Given the description of an element on the screen output the (x, y) to click on. 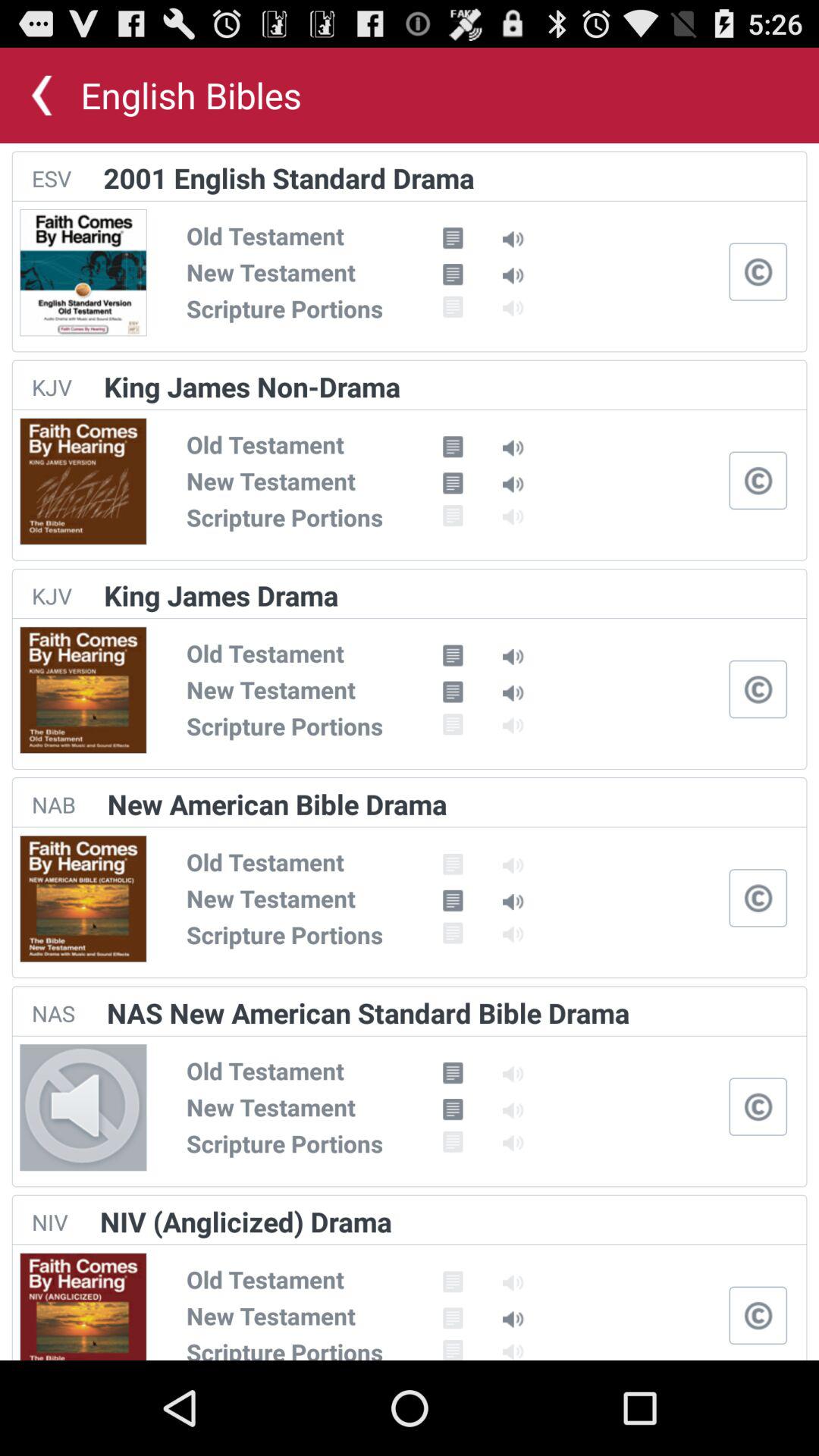
shows copyright information (758, 689)
